Given the description of an element on the screen output the (x, y) to click on. 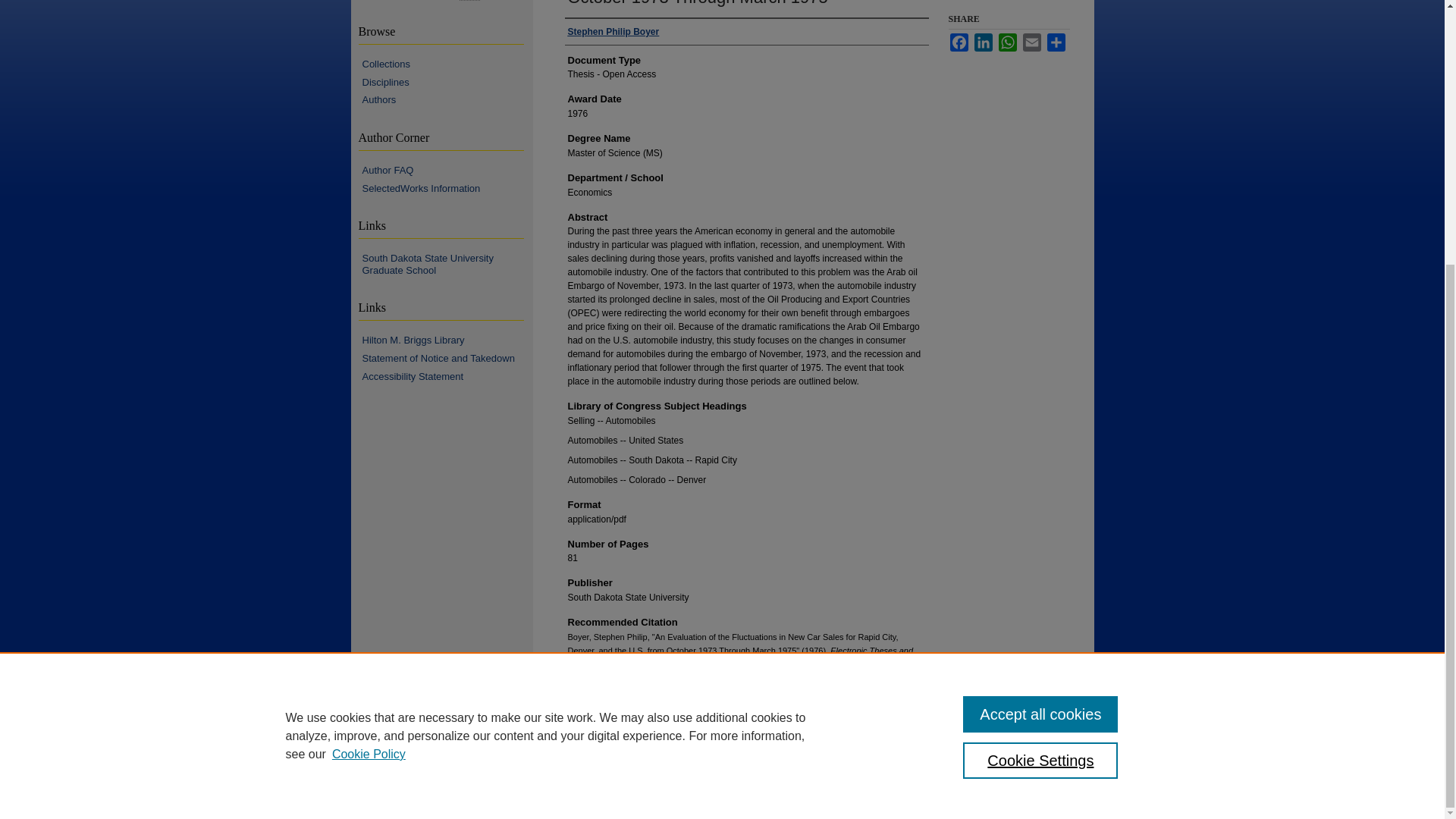
Browse by Collections (447, 64)
WhatsApp (1006, 42)
South Dakota State University Graduate School (447, 264)
Hilton M. Briggs Library (447, 340)
Statement of Notice and Takedown (447, 358)
Author FAQ (447, 170)
Share (1055, 42)
Disciplines (447, 82)
Browse by Disciplines (447, 82)
Collections (447, 64)
SelectedWorks Information (447, 188)
